Given the description of an element on the screen output the (x, y) to click on. 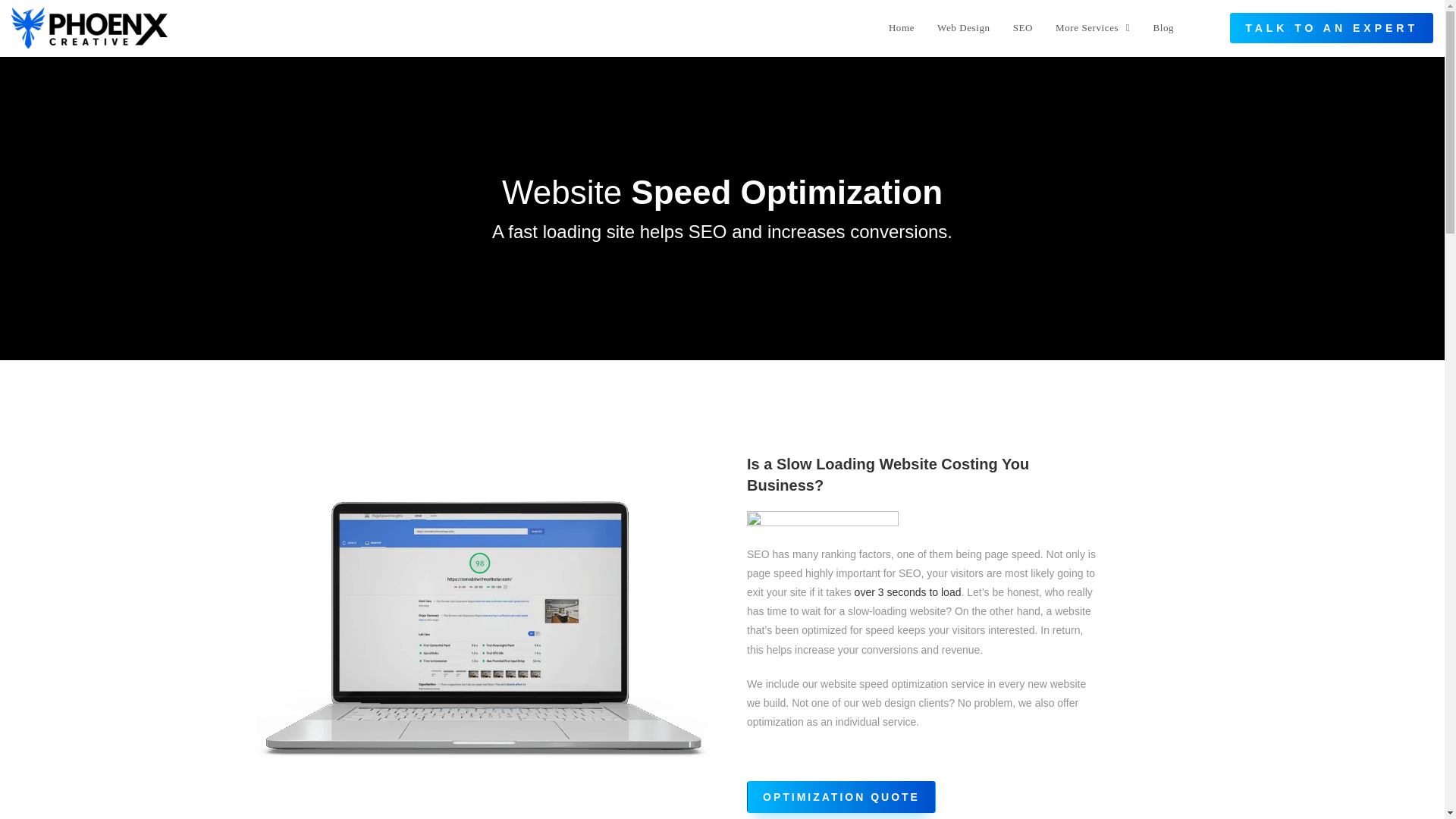
More Services (1092, 28)
Web Design (963, 28)
over 3 seconds to load (907, 592)
OPTIMIZATION QUOTE (841, 797)
